Given the description of an element on the screen output the (x, y) to click on. 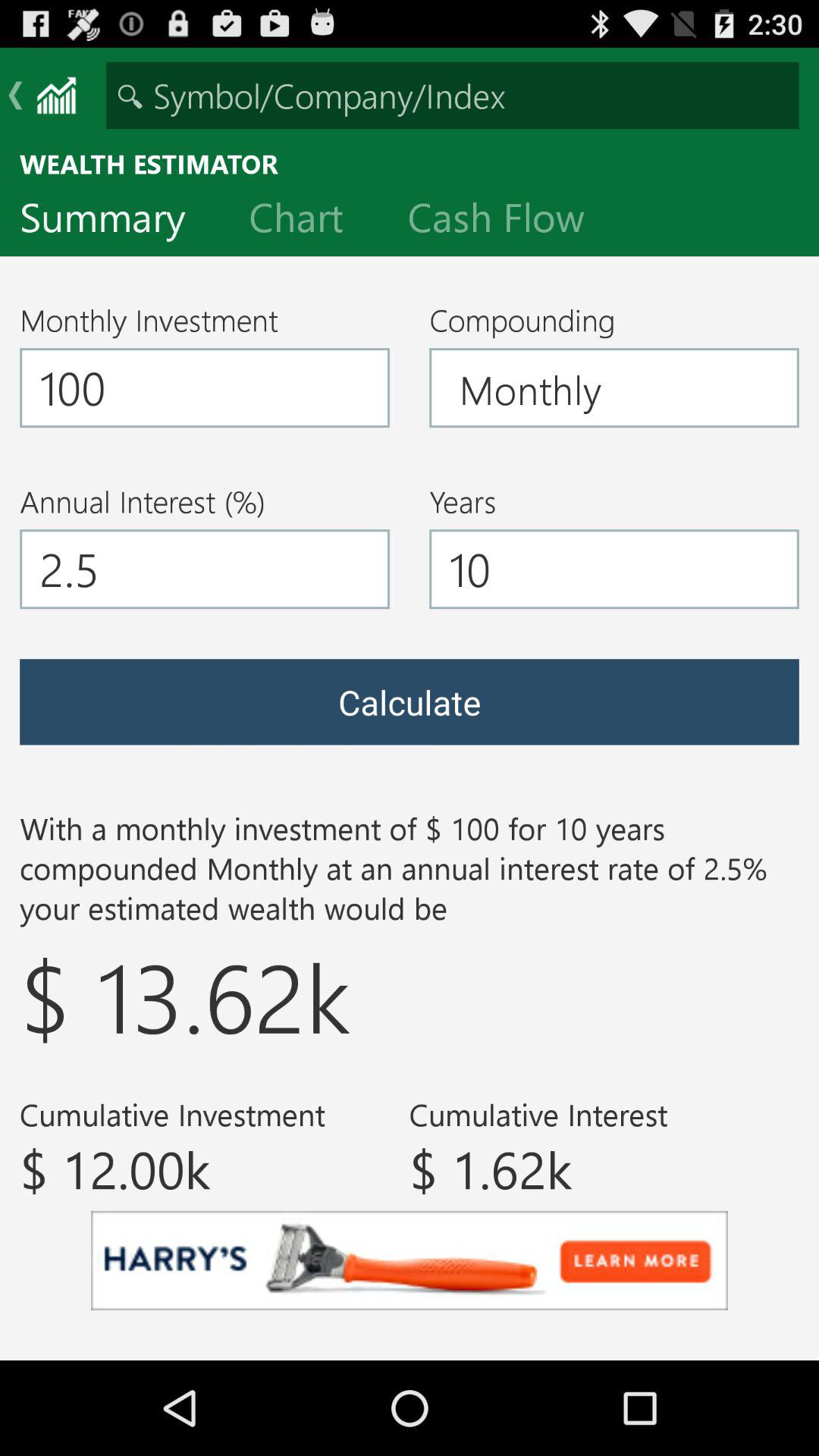
choose calculate icon (409, 702)
